Given the description of an element on the screen output the (x, y) to click on. 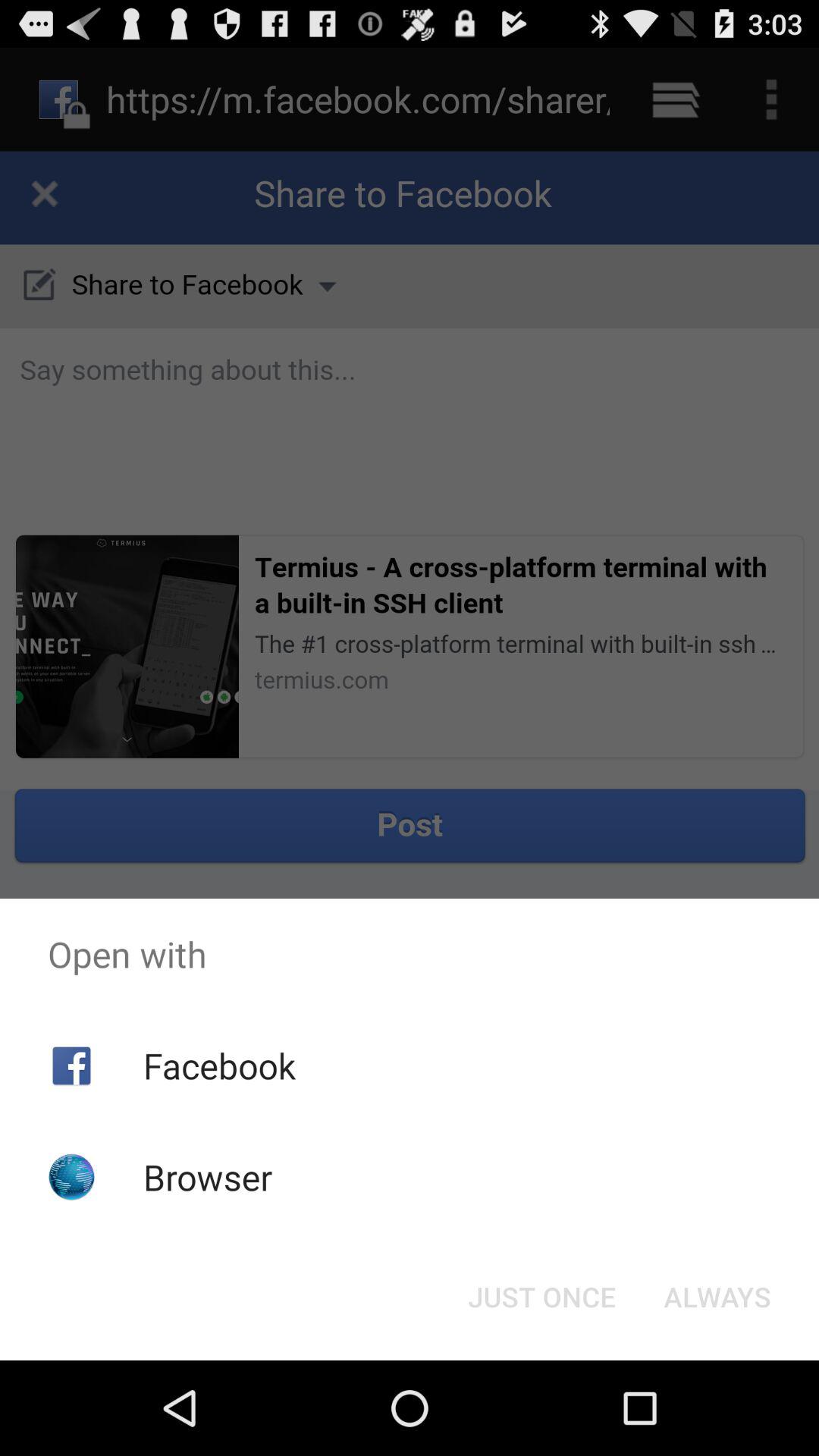
open facebook icon (219, 1065)
